Given the description of an element on the screen output the (x, y) to click on. 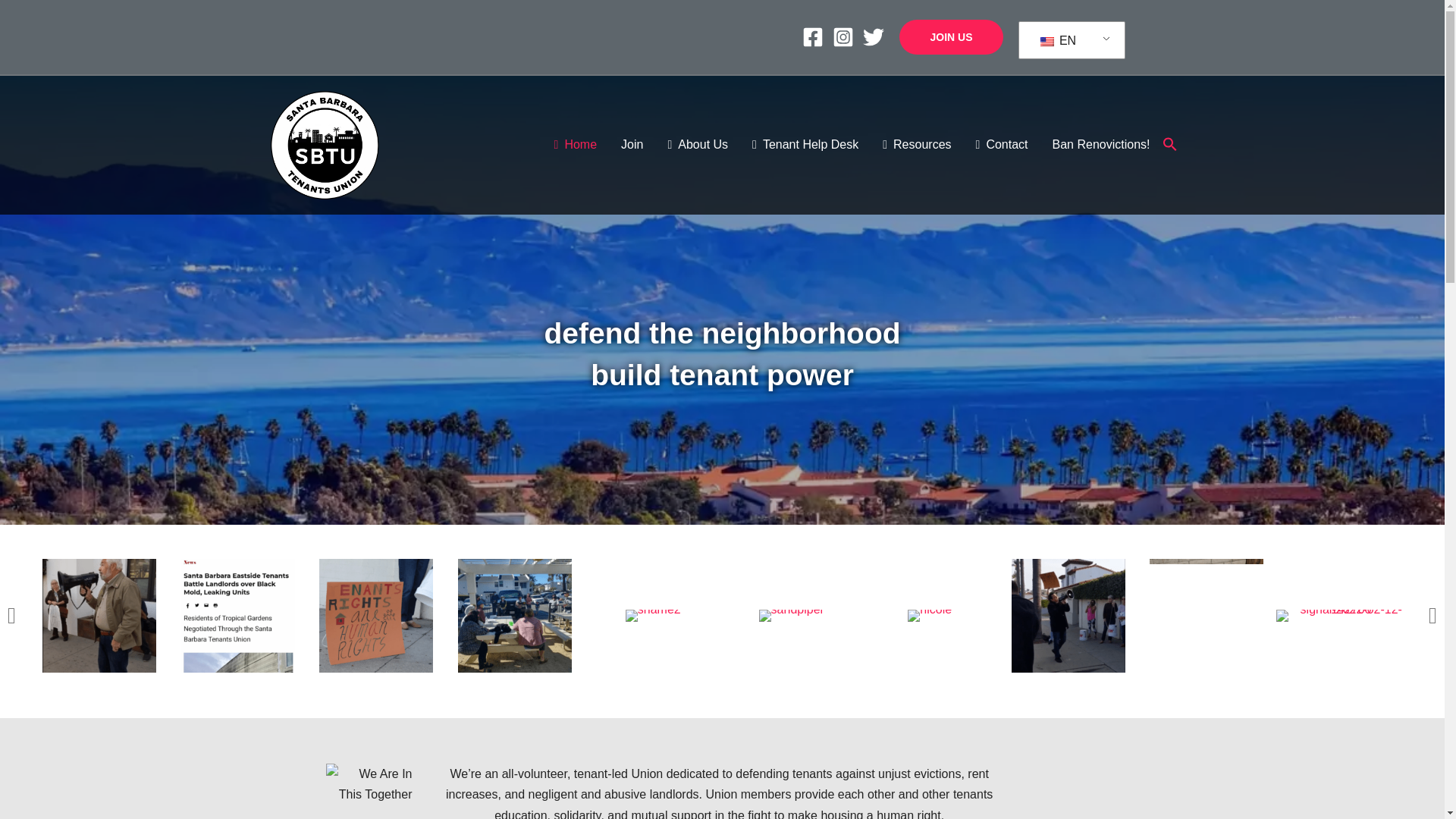
EN (1067, 40)
Resources (916, 144)
Ban Renovictions! (1101, 144)
About Us (697, 144)
Contact (1002, 144)
English (1067, 40)
English (1047, 40)
Home (575, 144)
Tenant Help Desk (804, 144)
JOIN US (951, 36)
